Given the description of an element on the screen output the (x, y) to click on. 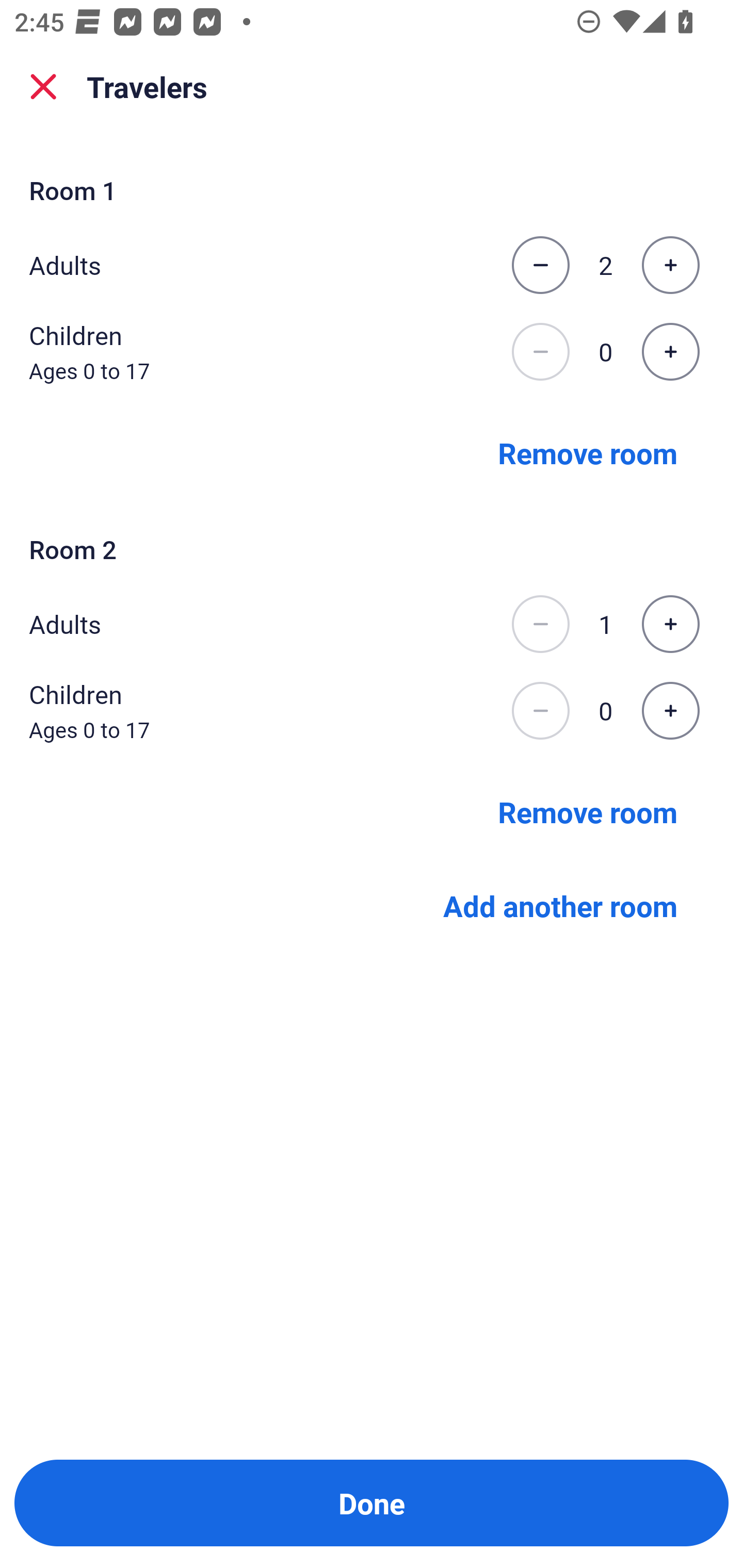
close (43, 86)
Decrease the number of adults (540, 264)
Increase the number of adults (670, 264)
Decrease the number of children (540, 351)
Increase the number of children (670, 351)
Remove room (588, 452)
Decrease the number of adults (540, 623)
Increase the number of adults (670, 623)
Decrease the number of children (540, 710)
Increase the number of children (670, 710)
Remove room (588, 811)
Add another room (560, 905)
Done (371, 1502)
